Given the description of an element on the screen output the (x, y) to click on. 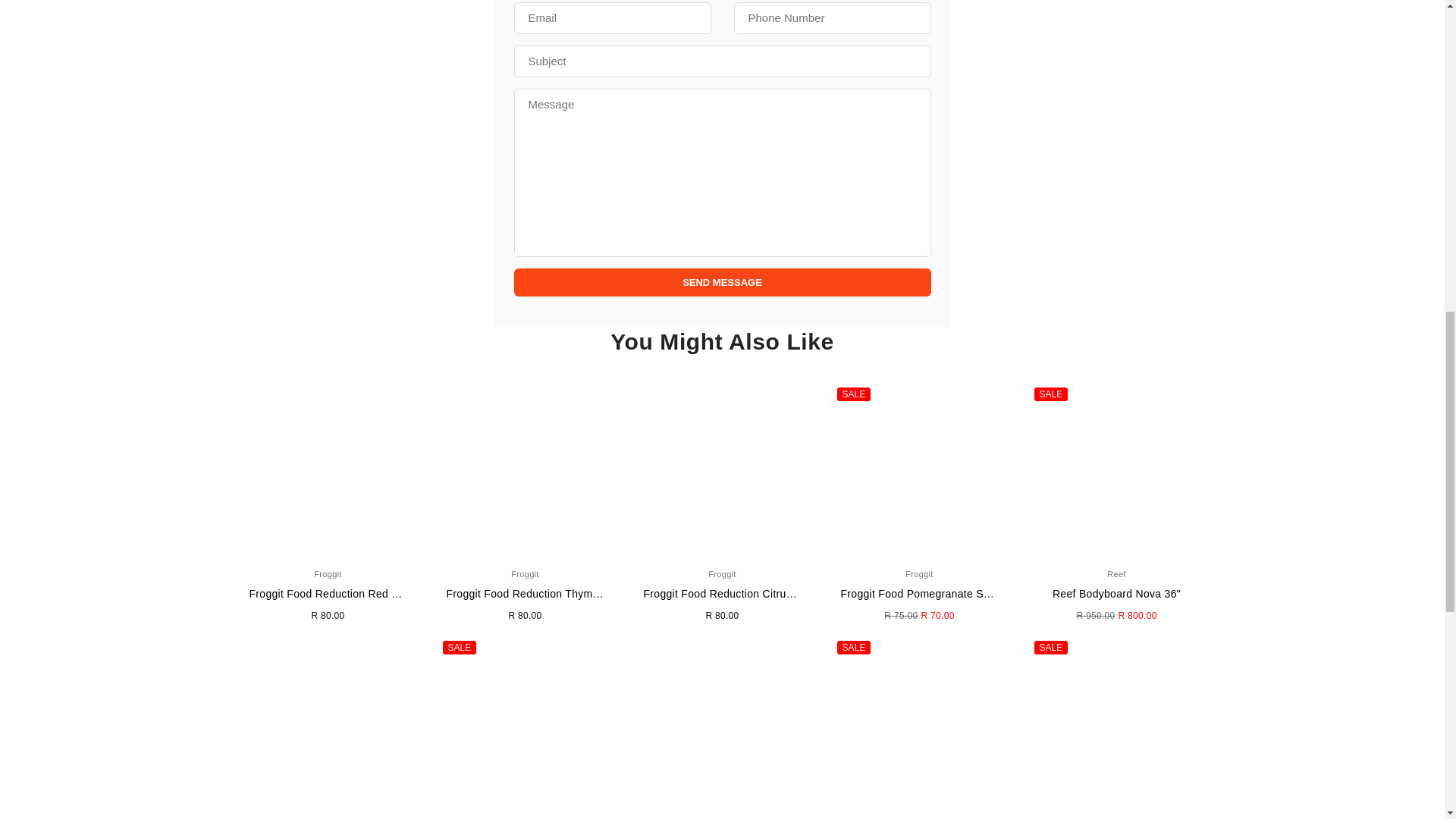
Send Message (722, 282)
